Given the description of an element on the screen output the (x, y) to click on. 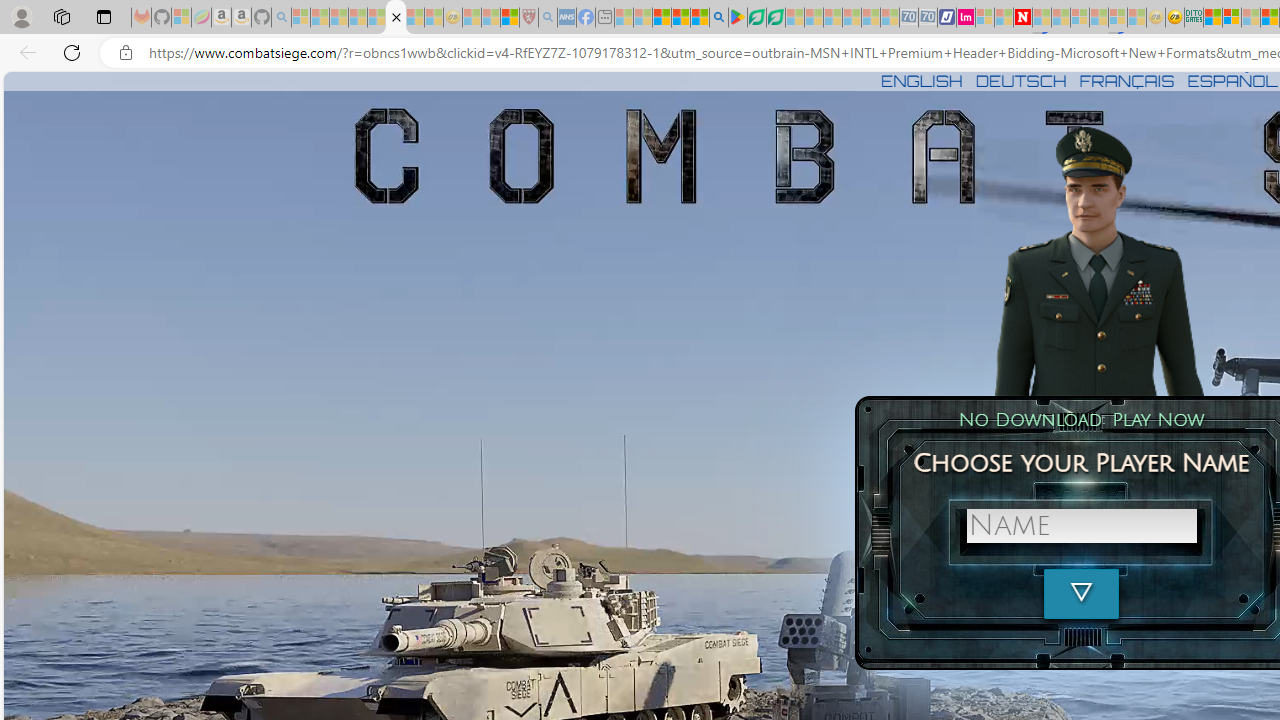
Cheap Hotels - Save70.com - Sleeping (927, 17)
google - Search (719, 17)
MSNBC - MSN - Sleeping (623, 17)
Bluey: Let's Play! - Apps on Google Play (737, 17)
